Given the description of an element on the screen output the (x, y) to click on. 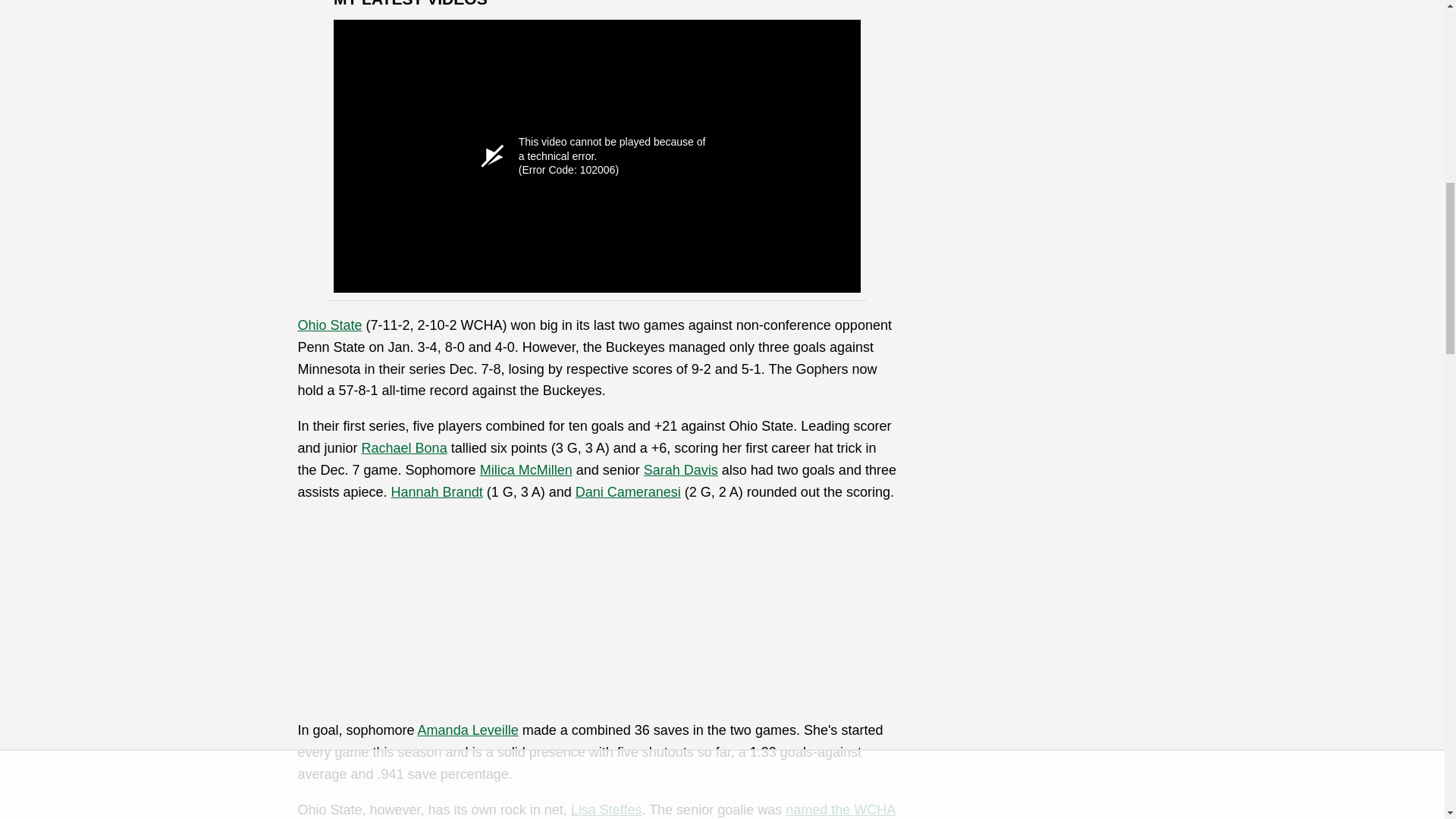
Hannah Brandt (437, 491)
Rachael Bona (403, 447)
Ohio State (329, 324)
Amanda Leveille (467, 729)
Dani Cameranesi (628, 491)
Milica McMillen (526, 469)
Sarah Davis (680, 469)
